Given the description of an element on the screen output the (x, y) to click on. 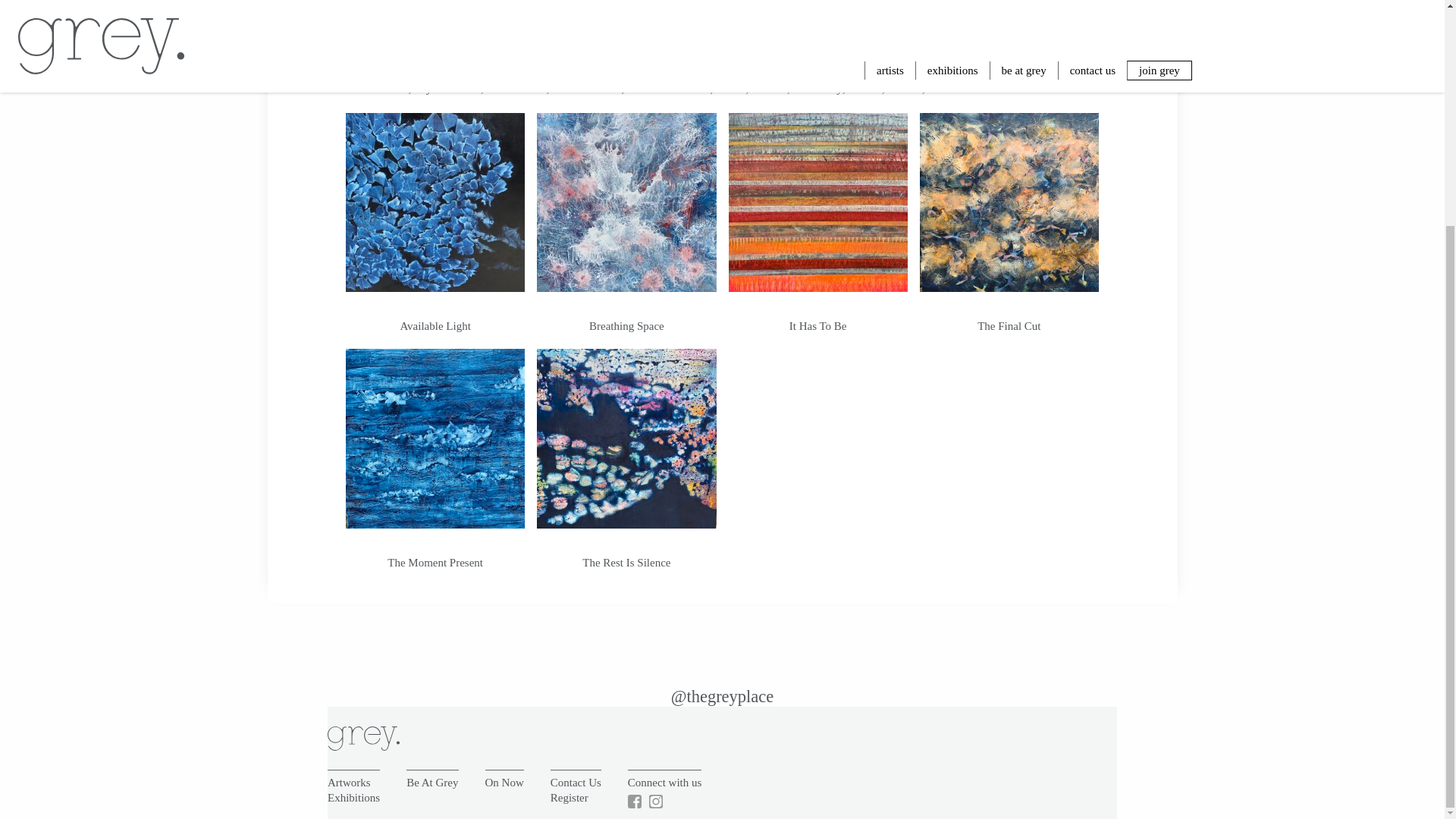
Breathing Space (626, 326)
Contact Us (575, 782)
Connect with us (664, 782)
The Moment Present (435, 562)
On Now (504, 782)
The Final Cut (1008, 326)
Register (569, 797)
Exhibitions (353, 797)
Artworks (349, 782)
Available Light (434, 326)
Be At Grey (432, 782)
It Has To Be (818, 326)
The Rest Is Silence (625, 562)
